Given the description of an element on the screen output the (x, y) to click on. 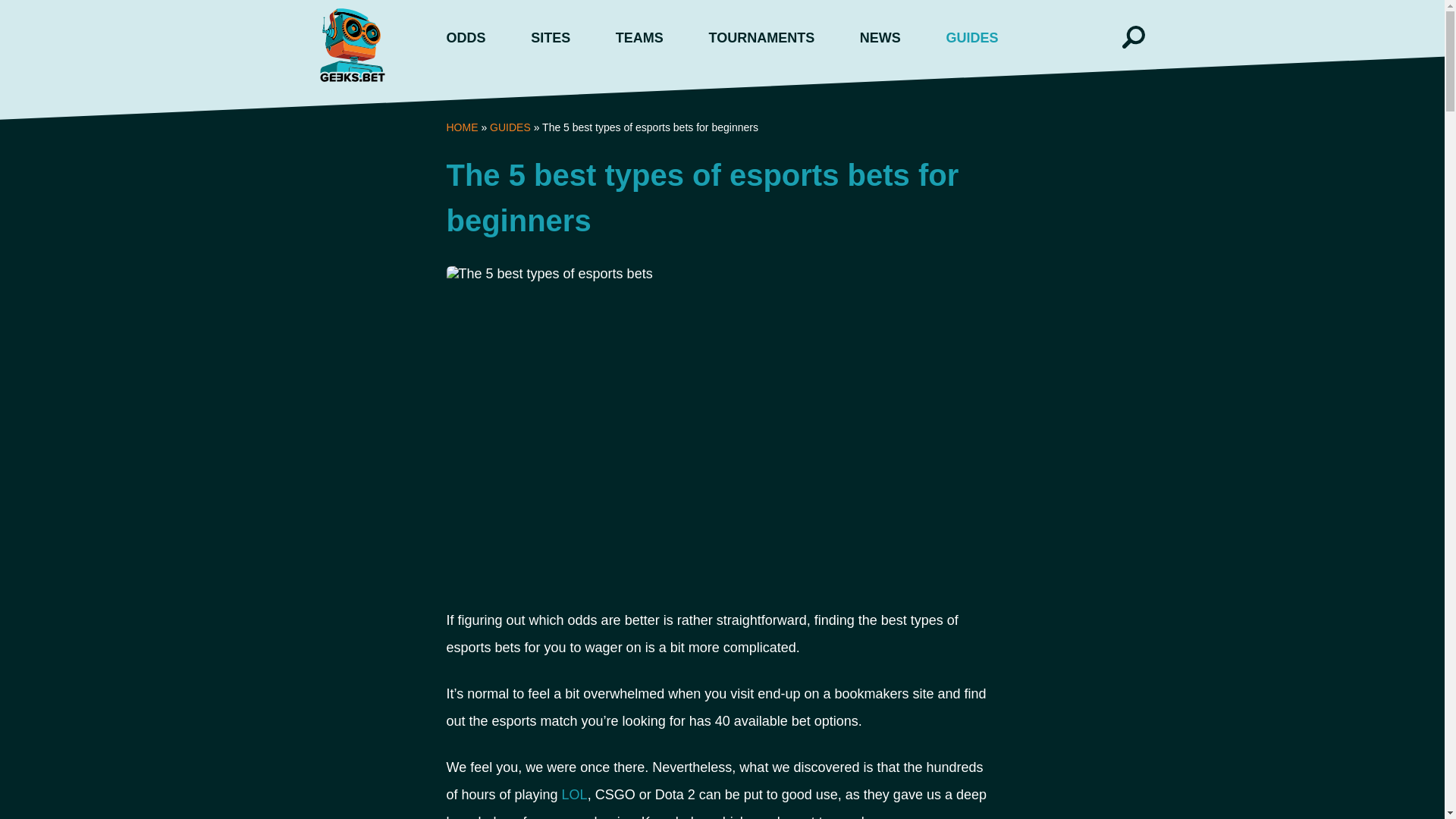
LOL (575, 794)
TOURNAMENTS (761, 38)
TEAMS (639, 38)
NEWS (879, 38)
GUIDES (971, 38)
HOME (461, 127)
SITES (550, 38)
ODDS (465, 38)
GUIDES (510, 127)
